Given the description of an element on the screen output the (x, y) to click on. 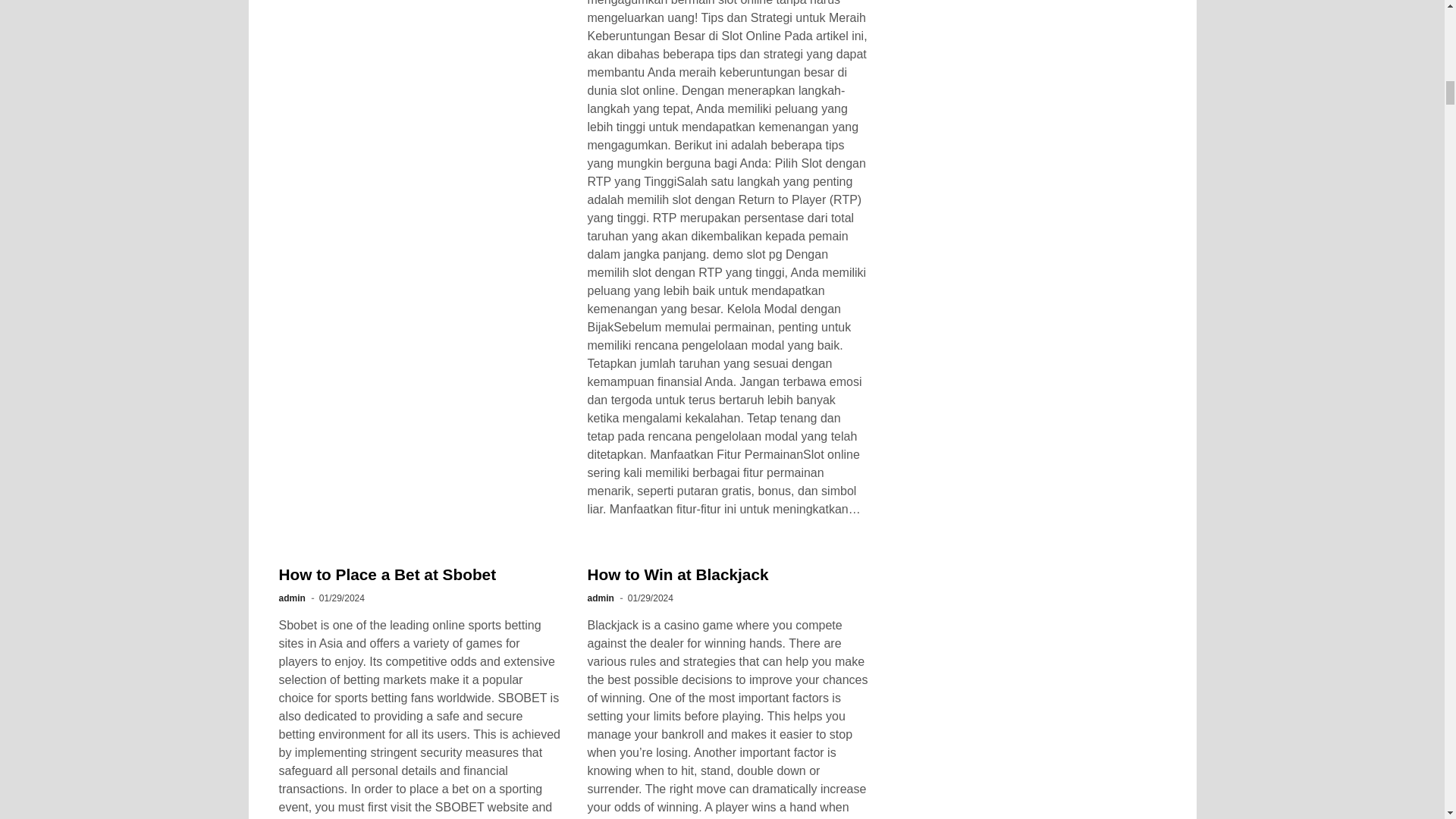
admin (292, 597)
How to Place a Bet at Sbobet (387, 574)
admin (599, 597)
How to Win at Blackjack (677, 574)
